Given the description of an element on the screen output the (x, y) to click on. 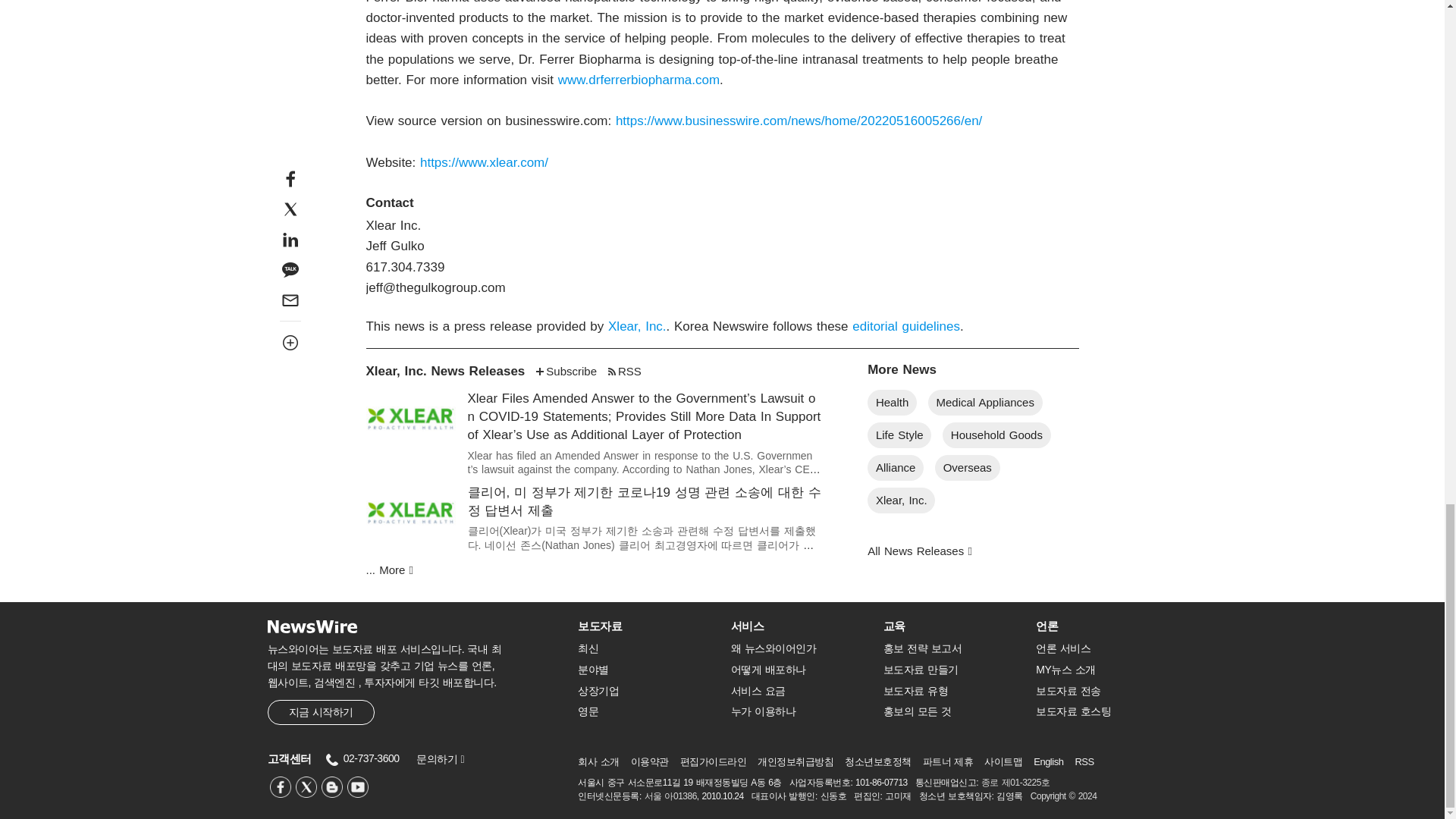
Xlear, Inc. Logo (409, 418)
Xlear, Inc. Logo (409, 512)
